Given the description of an element on the screen output the (x, y) to click on. 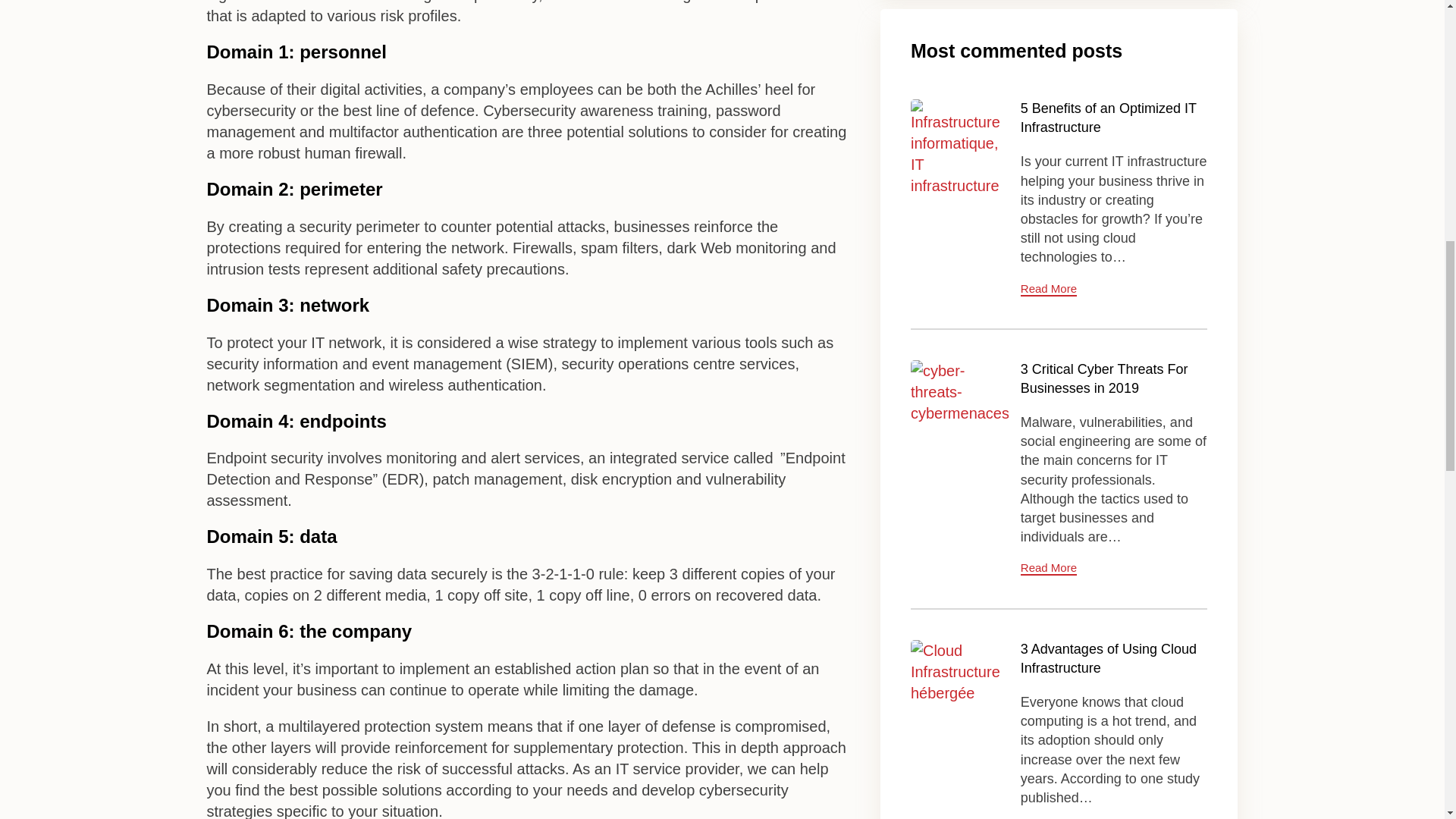
3 Critical Cyber Threats For Businesses in 2019 (1104, 378)
3 Advantages of Using Cloud Infrastructure (1108, 658)
5 Benefits of an Optimized IT Infrastructure (1108, 117)
Read More (1048, 288)
5 Benefits of an Optimized IT Infrastructure (1108, 117)
3 Advantages of Using Cloud Infrastructure (960, 688)
3 Critical Cyber Threats For Businesses in 2019 (960, 408)
Read More (1048, 568)
5 Benefits of an Optimized IT Infrastructure (960, 148)
Read More (1048, 288)
